Given the description of an element on the screen output the (x, y) to click on. 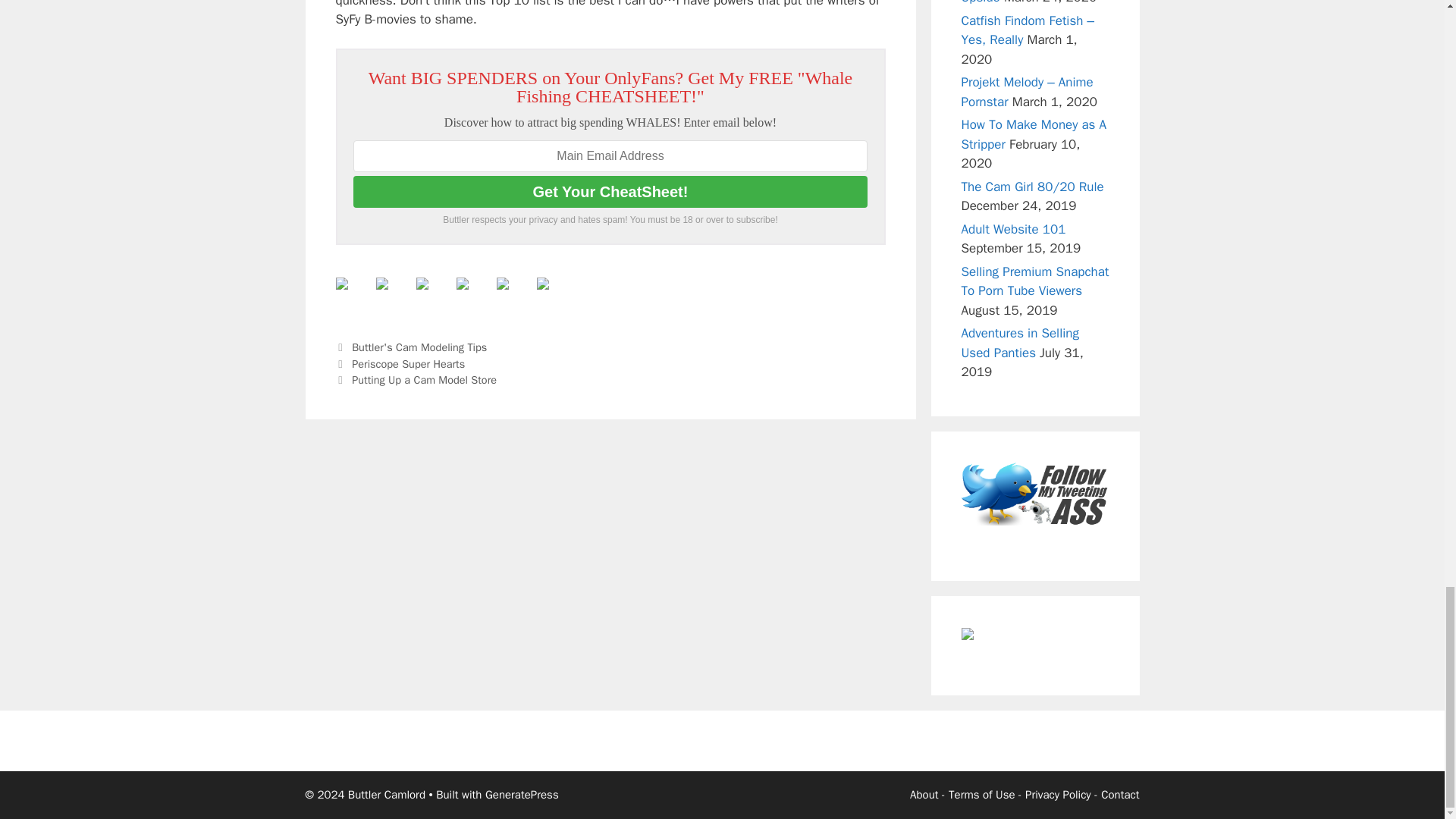
Get Your CheatSheet! (610, 192)
